Given the description of an element on the screen output the (x, y) to click on. 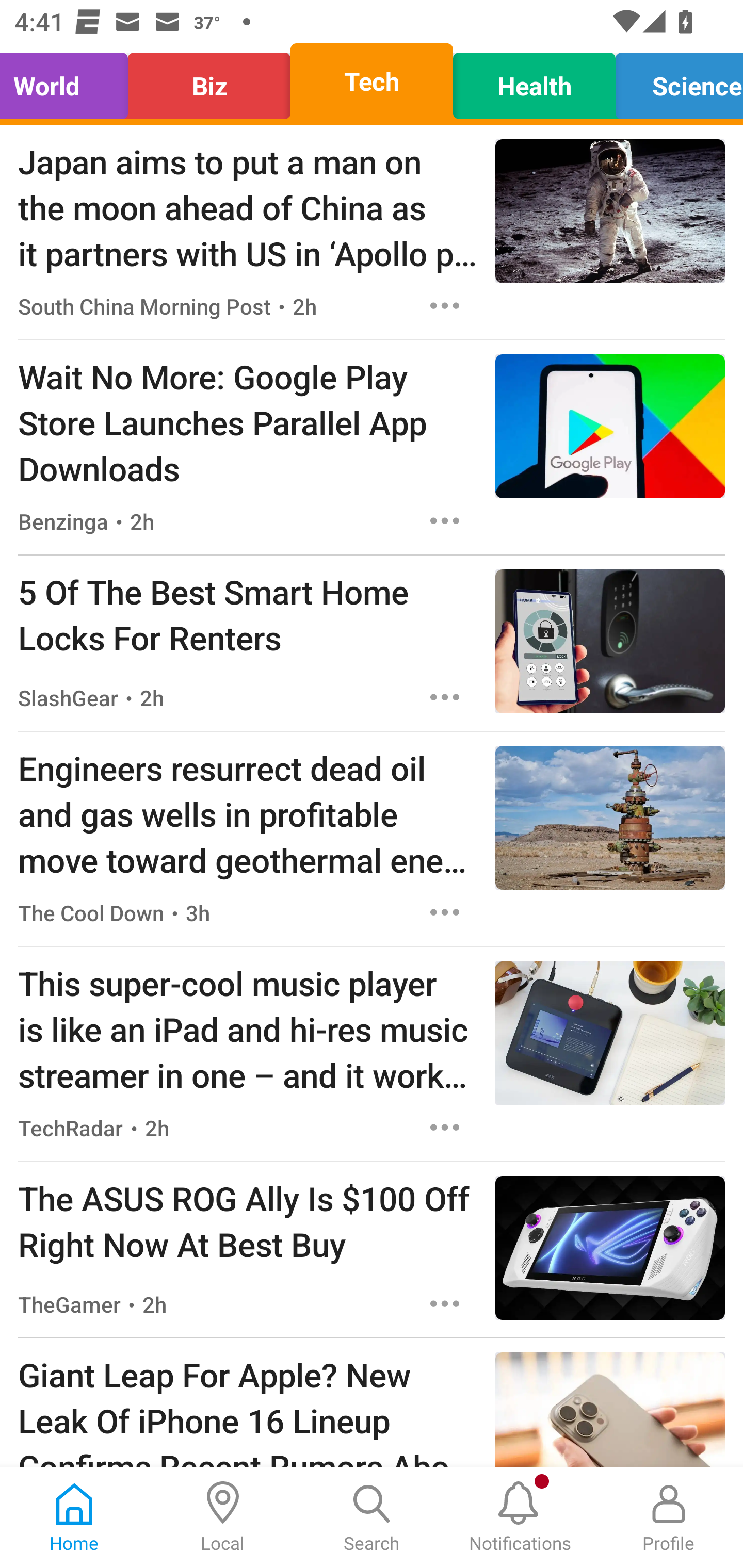
World (69, 81)
Biz (209, 81)
Tech (371, 81)
Health (534, 81)
Science (673, 81)
Options (444, 305)
Options (444, 520)
Options (444, 697)
Options (444, 912)
Options (444, 1127)
Options (444, 1303)
Local (222, 1517)
Search (371, 1517)
Notifications, New notification Notifications (519, 1517)
Profile (668, 1517)
